Given the description of an element on the screen output the (x, y) to click on. 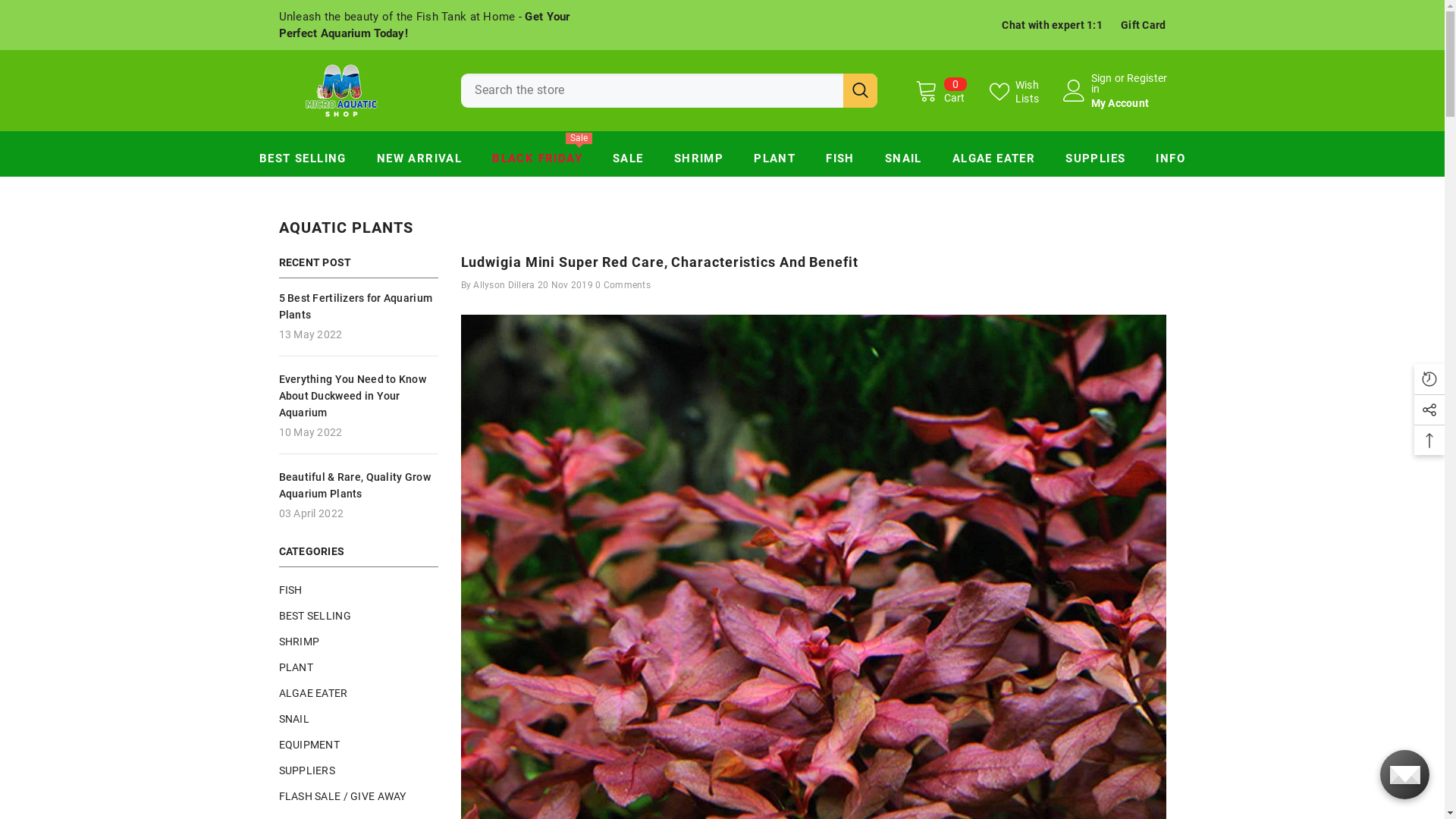
SUPPLIERS Element type: text (307, 769)
Sign in Element type: text (1100, 83)
Wish Lists Element type: text (1023, 90)
ALGAE EATER Element type: text (993, 161)
SALE Element type: text (627, 161)
FISH Element type: text (290, 589)
5 Best Fertilizers for Aquarium Plants Element type: text (358, 306)
Beautiful & Rare, Quality Grow Aquarium Plants Element type: text (358, 485)
BLACK FRIDAY
Sale Element type: text (536, 161)
PLANT Element type: text (296, 666)
Chat with expert 1:1 Element type: text (1051, 24)
SUPPLIES Element type: text (1095, 161)
0 Comments Element type: text (622, 284)
BEST SELLING Element type: text (302, 161)
EQUIPMENT Element type: text (309, 743)
SHRIMP Element type: text (698, 161)
FISH Element type: text (839, 161)
PLANT Element type: text (774, 161)
0
0 items
Cart Element type: text (940, 90)
Everything You Need to Know About Duckweed in Your Aquarium Element type: text (358, 395)
SNAIL Element type: text (903, 161)
SHRIMP Element type: text (299, 640)
ALGAE EATER Element type: text (313, 692)
SNAIL Element type: text (294, 718)
BEST SELLING Element type: text (315, 614)
Register Element type: text (1146, 83)
FLASH SALE / GIVE AWAY Element type: text (342, 795)
INFO Element type: text (1170, 161)
Gift Card Element type: text (1143, 24)
Get Your Perfect Aquarium Today! Element type: text (424, 24)
NEW ARRIVAL Element type: text (418, 161)
